Given the description of an element on the screen output the (x, y) to click on. 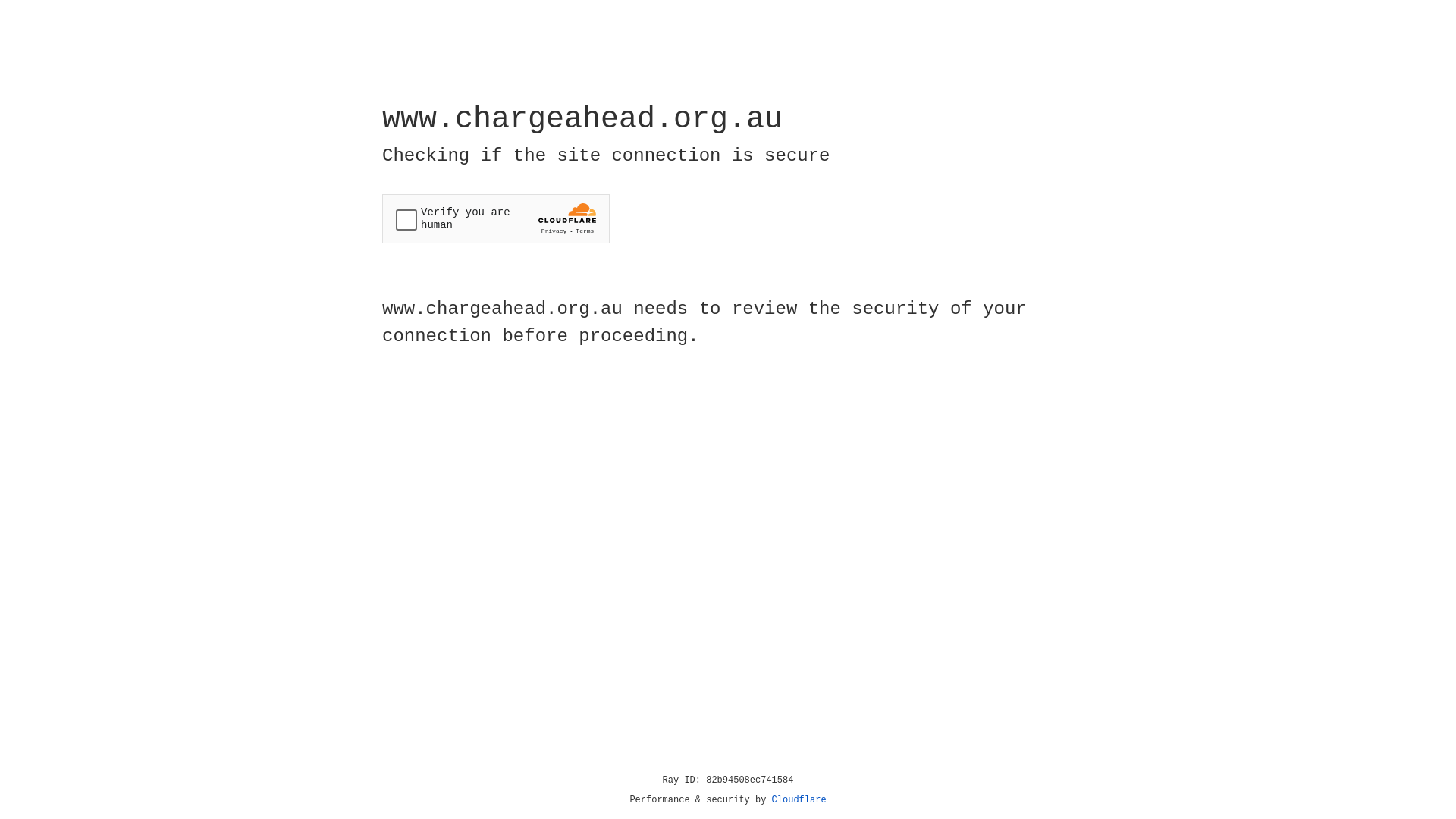
Widget containing a Cloudflare security challenge Element type: hover (495, 218)
Cloudflare Element type: text (798, 799)
